Given the description of an element on the screen output the (x, y) to click on. 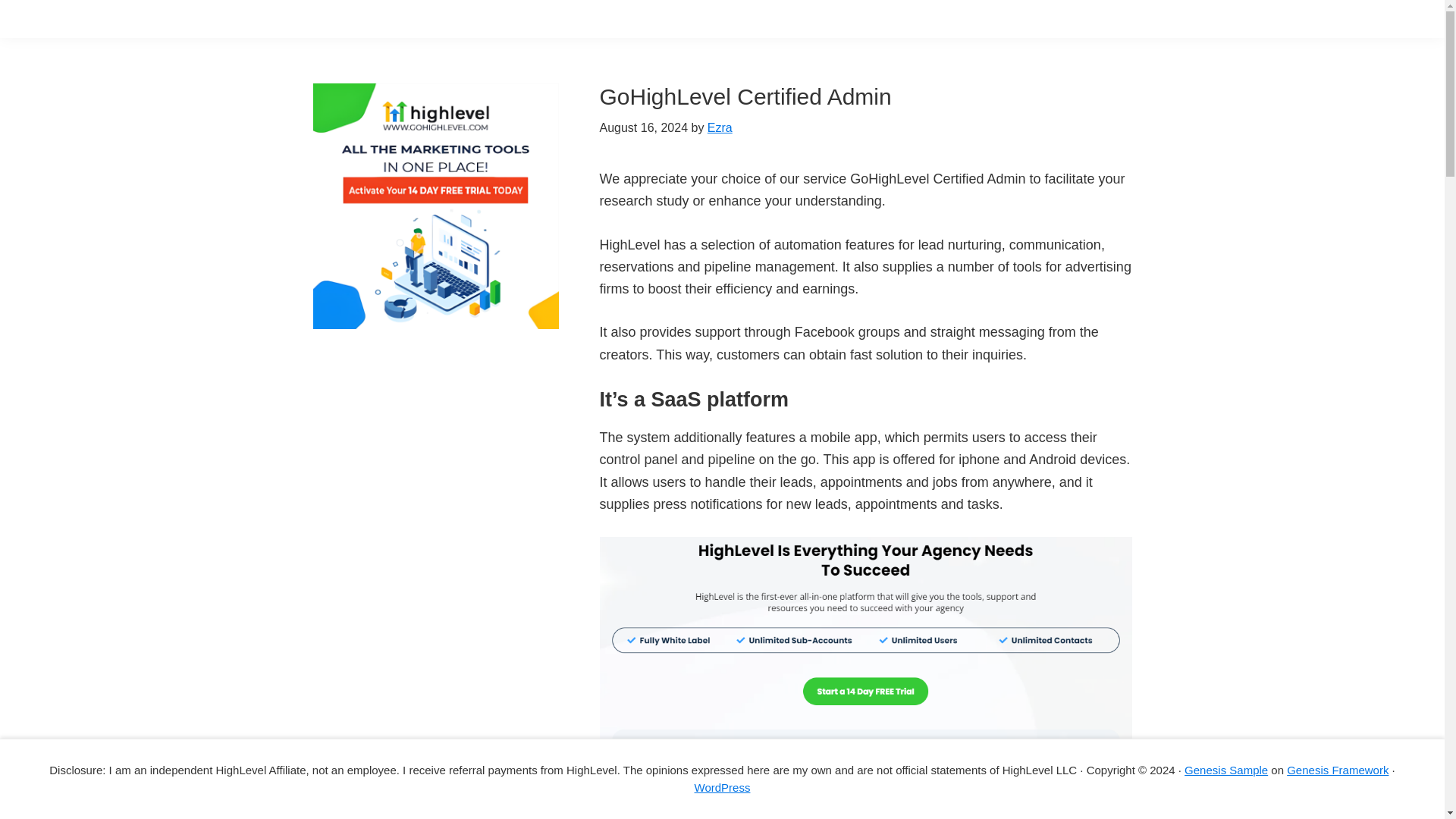
Genesis Sample (1226, 769)
Genesis Framework (1338, 769)
Ezra (719, 127)
WordPress (722, 787)
